Given the description of an element on the screen output the (x, y) to click on. 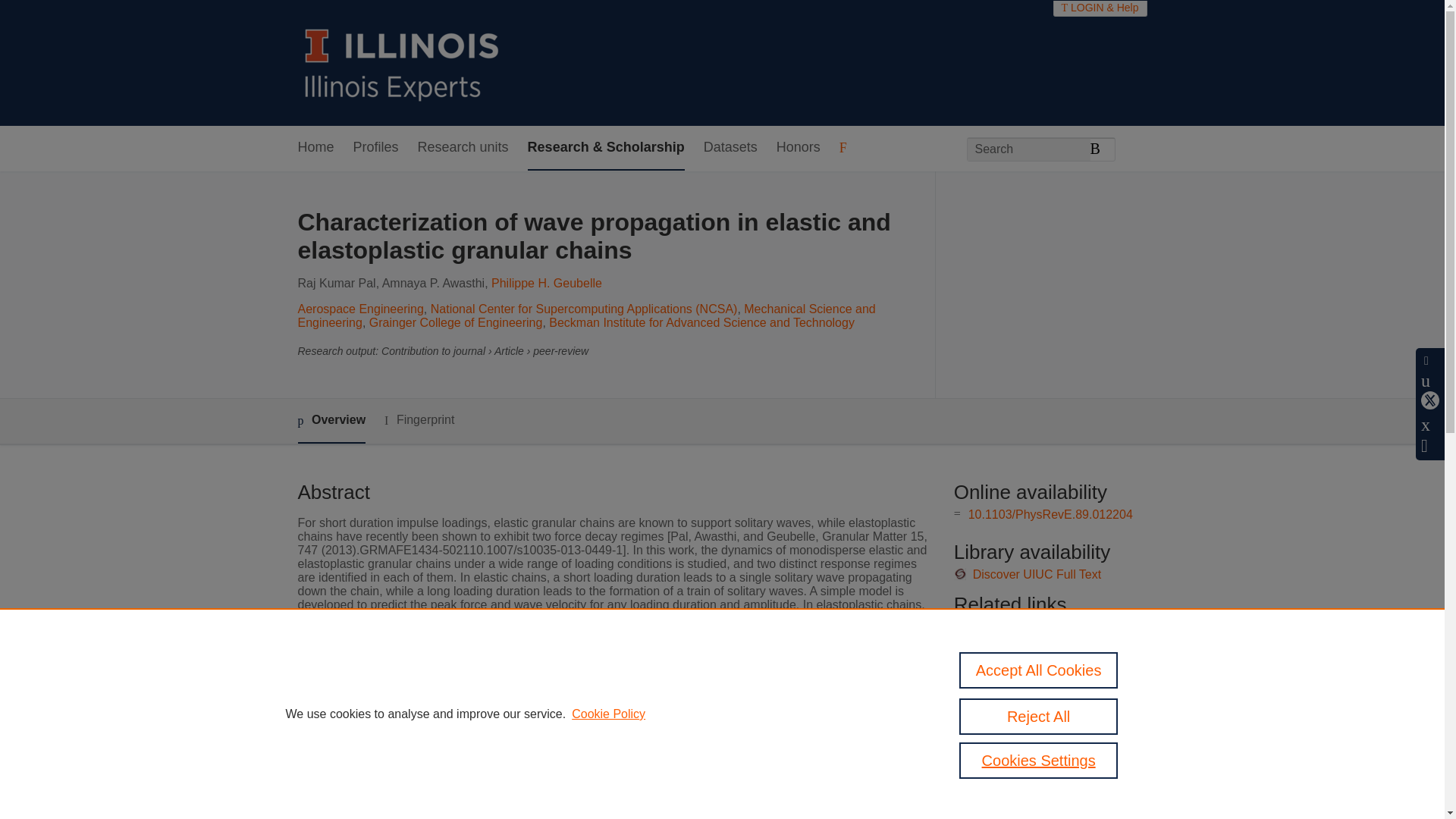
Link to the citations in Scopus (1048, 651)
Discover UIUC Full Text (1037, 574)
Grainger College of Engineering (456, 322)
Research units (462, 148)
Philippe H. Geubelle (547, 282)
Honors (798, 148)
Link to publication in Scopus (1045, 626)
Beckman Institute for Advanced Science and Technology (701, 322)
Mechanical Science and Engineering (586, 315)
Datasets (730, 148)
Aerospace Engineering (360, 308)
Fingerprint (419, 420)
Overview (331, 420)
